Given the description of an element on the screen output the (x, y) to click on. 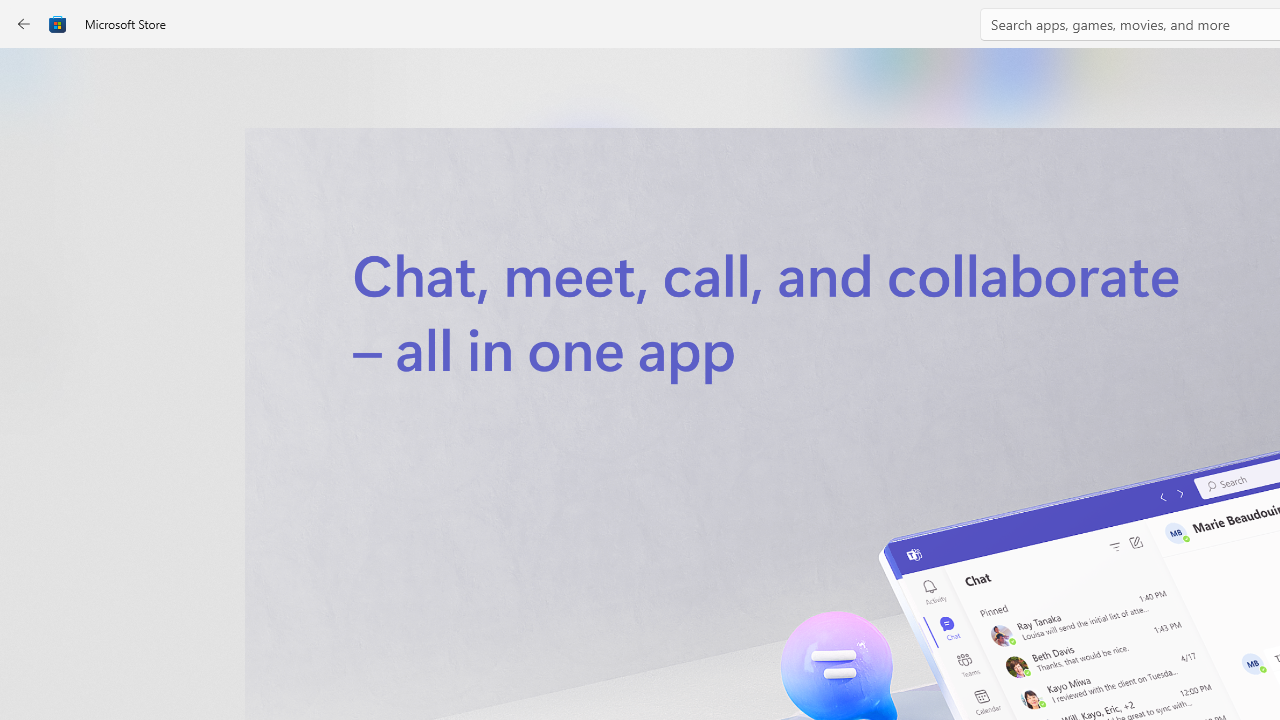
Gaming (35, 203)
Home (35, 79)
Microsoft Corporation (673, 333)
Apps (35, 141)
Install (586, 428)
Show more (854, 428)
AI Hub (35, 390)
Arcade (35, 265)
Entertainment (35, 327)
Sign in to review (882, 667)
Class: Image (58, 24)
Back (24, 24)
2.6 stars. Click to skip to ratings and reviews (542, 543)
